Given the description of an element on the screen output the (x, y) to click on. 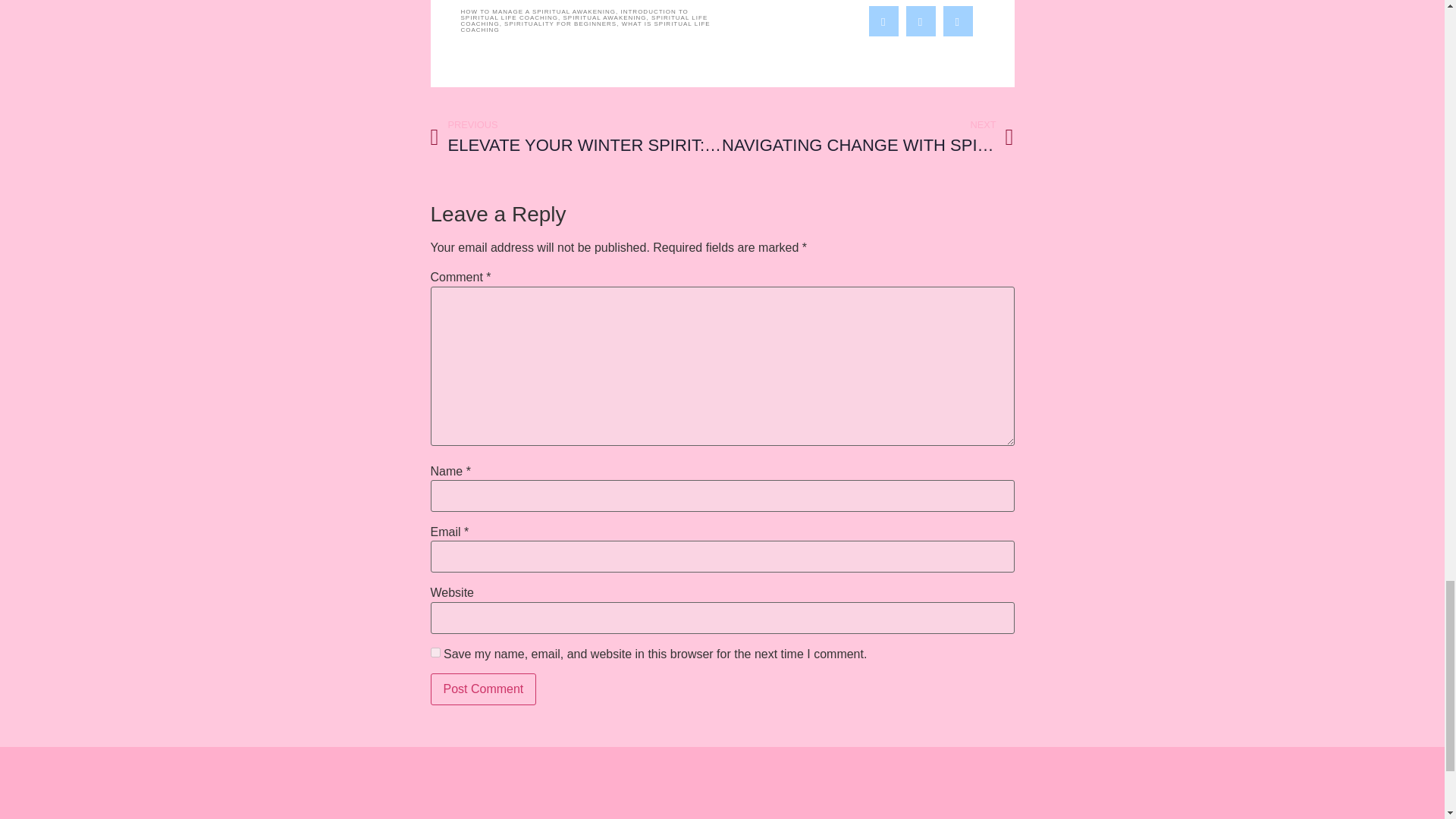
Post Comment (483, 689)
yes (435, 652)
